Given the description of an element on the screen output the (x, y) to click on. 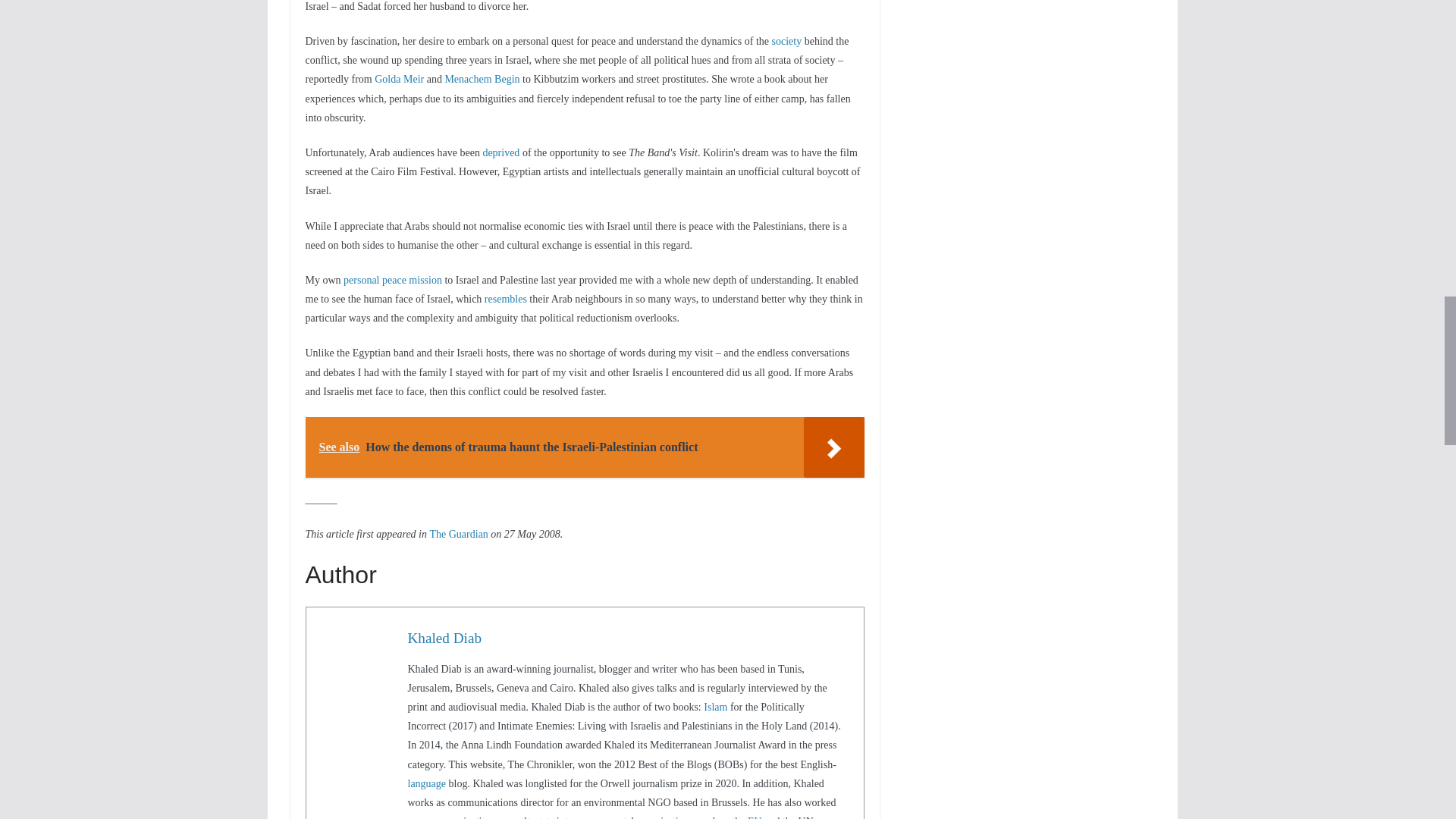
Posts tagged with language (426, 783)
Khaled Diab (444, 637)
Posts tagged with islam (714, 706)
Posts tagged with society (786, 41)
